Given the description of an element on the screen output the (x, y) to click on. 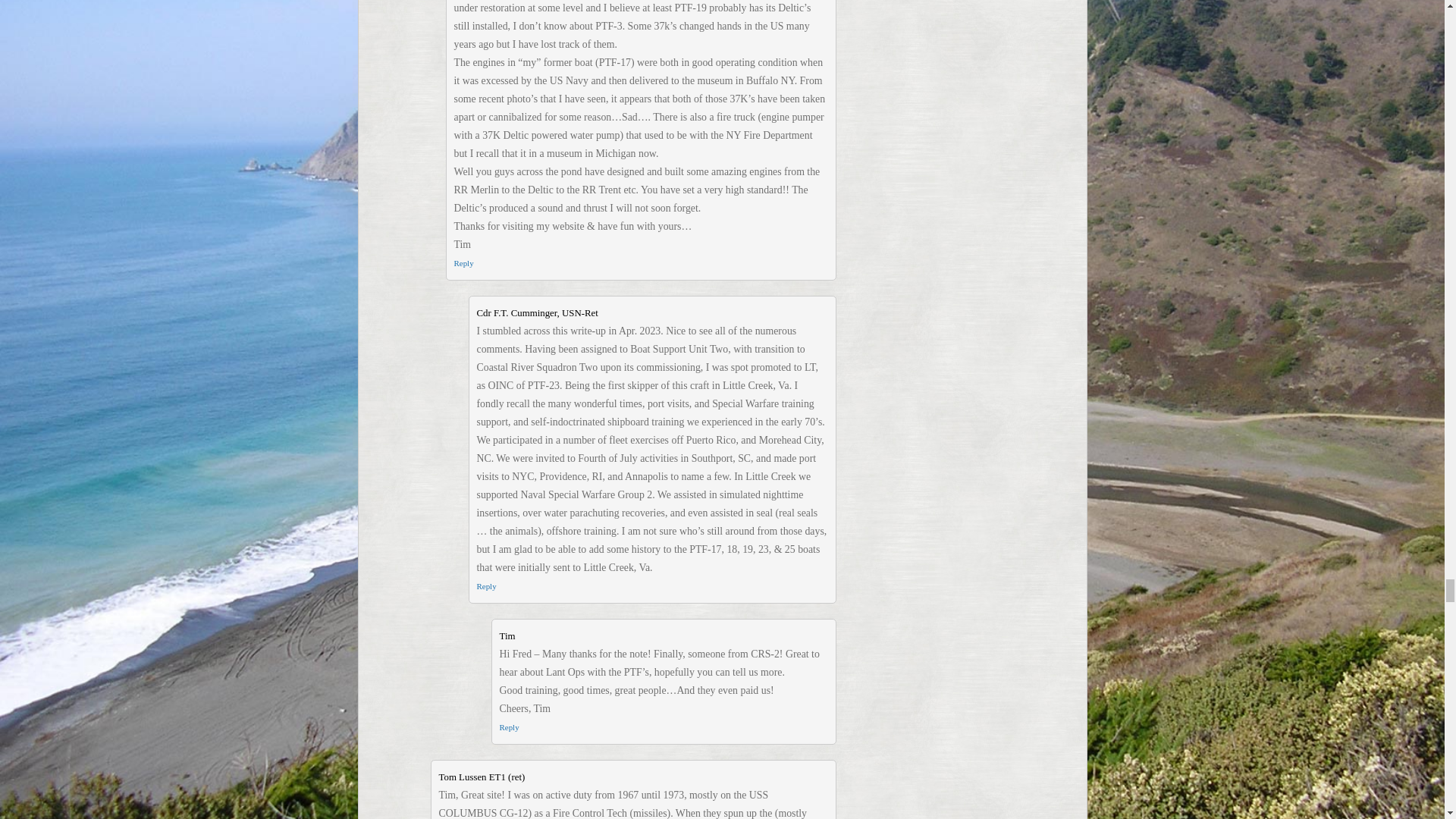
Reply (486, 585)
Reply (462, 262)
Reply (508, 727)
